Given the description of an element on the screen output the (x, y) to click on. 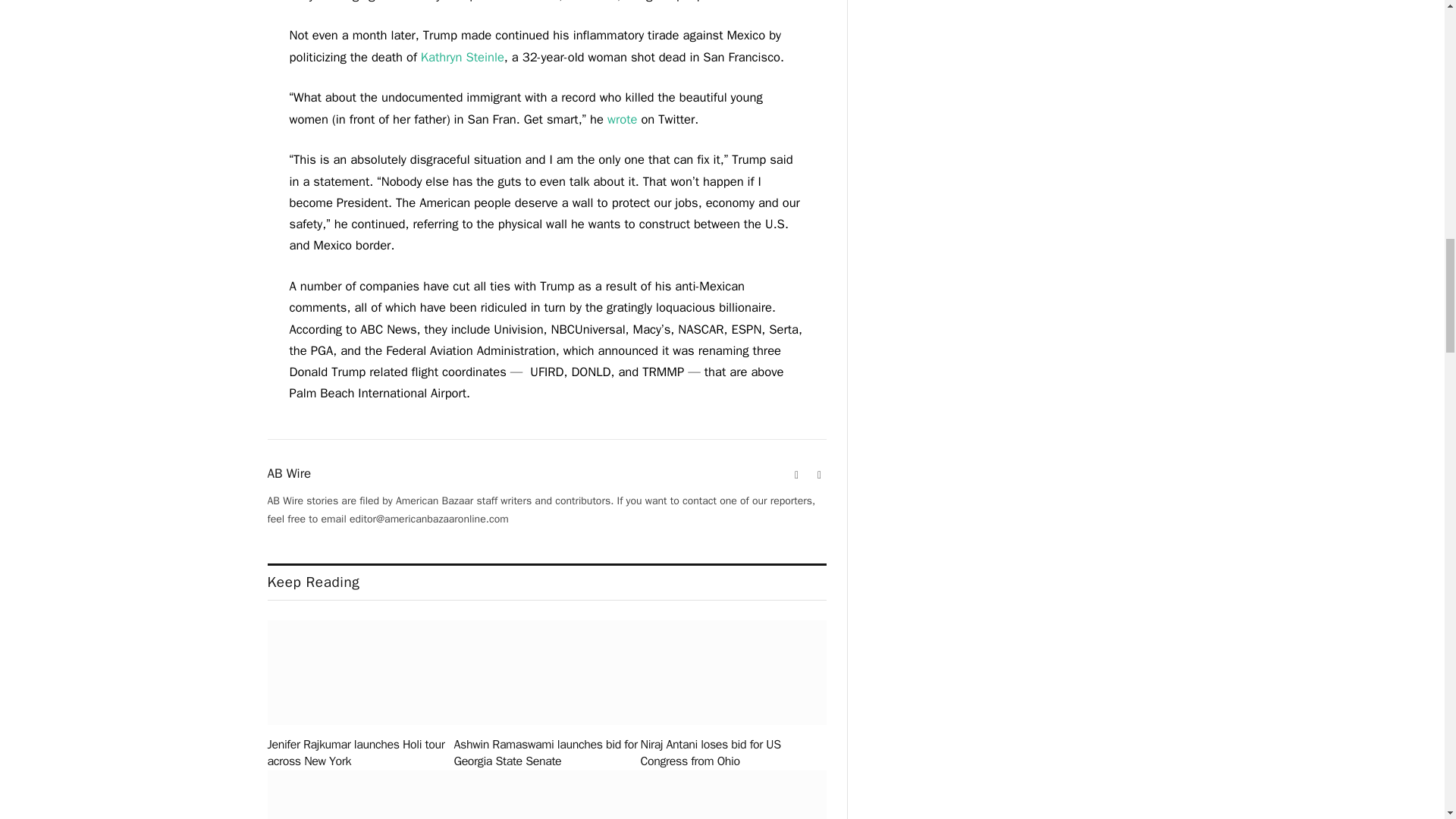
AB Wire (288, 473)
Kathryn Steinle (461, 57)
Posts by AB Wire (288, 473)
Website (796, 475)
Website (796, 475)
wrote (622, 119)
Twitter (818, 475)
